Given the description of an element on the screen output the (x, y) to click on. 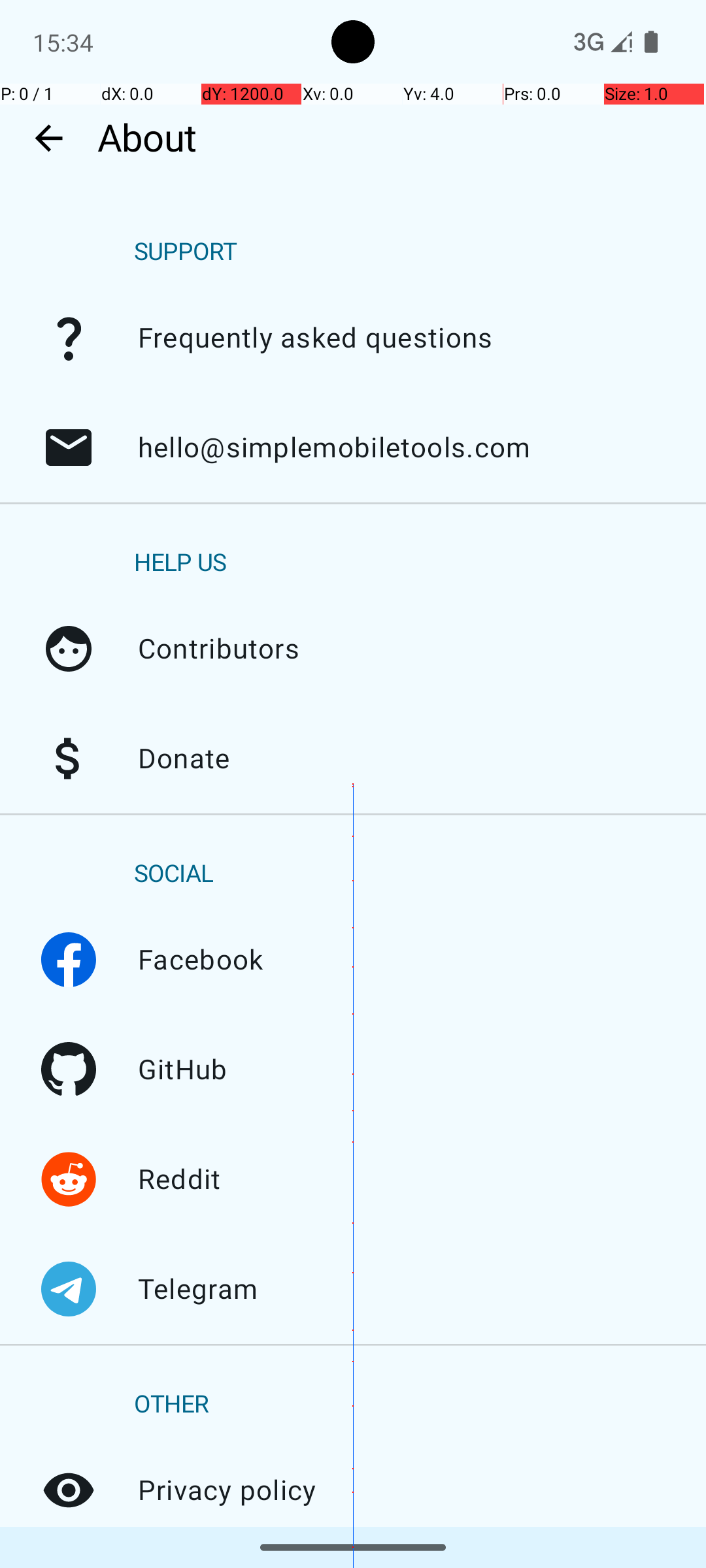
SUPPORT Element type: android.widget.TextView (185, 251)
HELP US Element type: android.widget.TextView (180, 562)
SOCIAL Element type: android.widget.TextView (173, 873)
OTHER Element type: android.widget.TextView (171, 1404)
Frequently asked questions Element type: android.view.View (68, 337)
hello@simplemobiletools.com Element type: android.view.View (68, 447)
Donate Element type: android.view.View (68, 758)
GitHub Element type: android.view.View (68, 1069)
Reddit Element type: android.view.View (68, 1178)
Telegram Element type: android.view.View (68, 1288)
Privacy policy Element type: android.view.View (68, 1489)
